Given the description of an element on the screen output the (x, y) to click on. 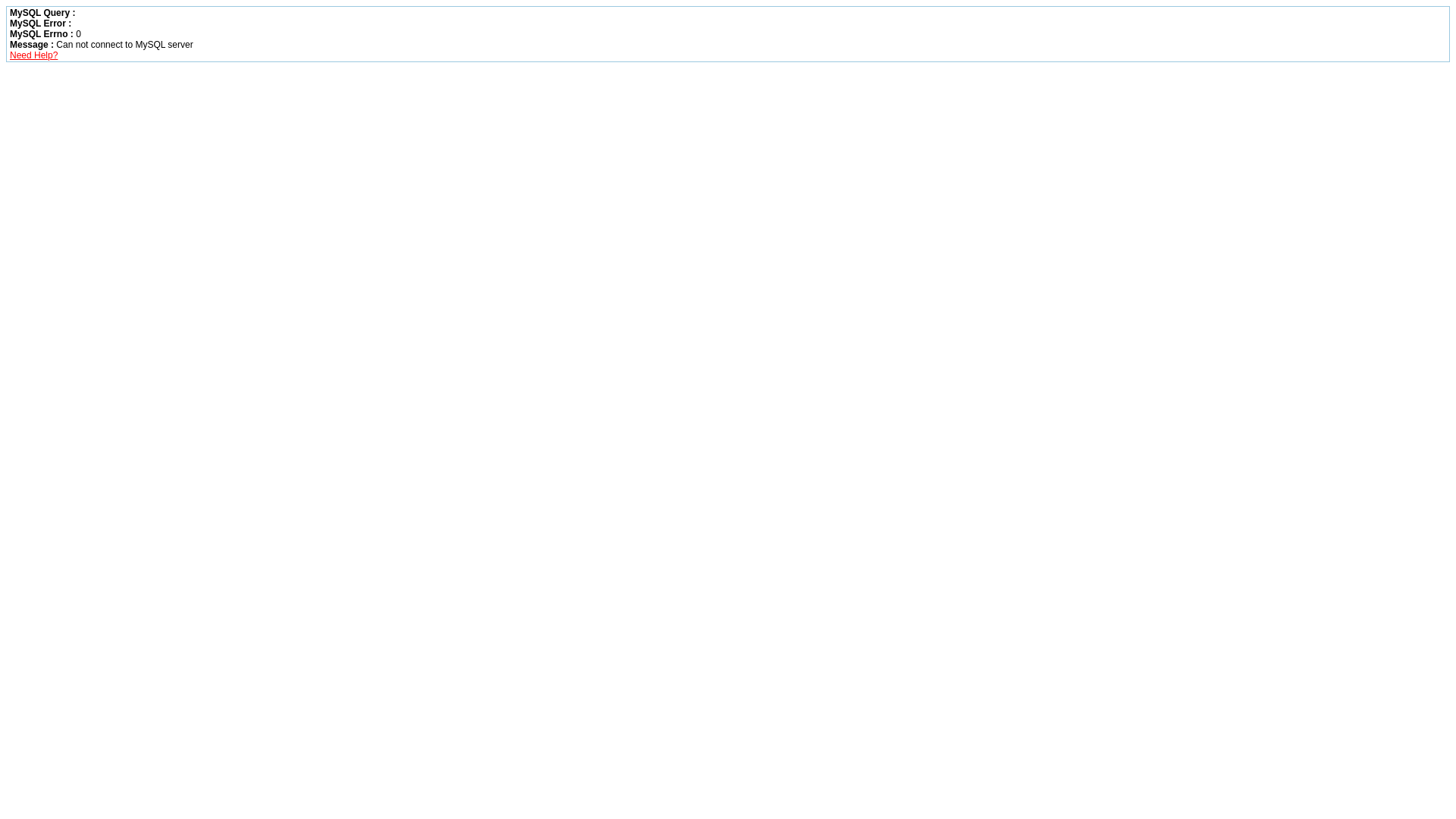
Need Help? Element type: text (33, 55)
